Given the description of an element on the screen output the (x, y) to click on. 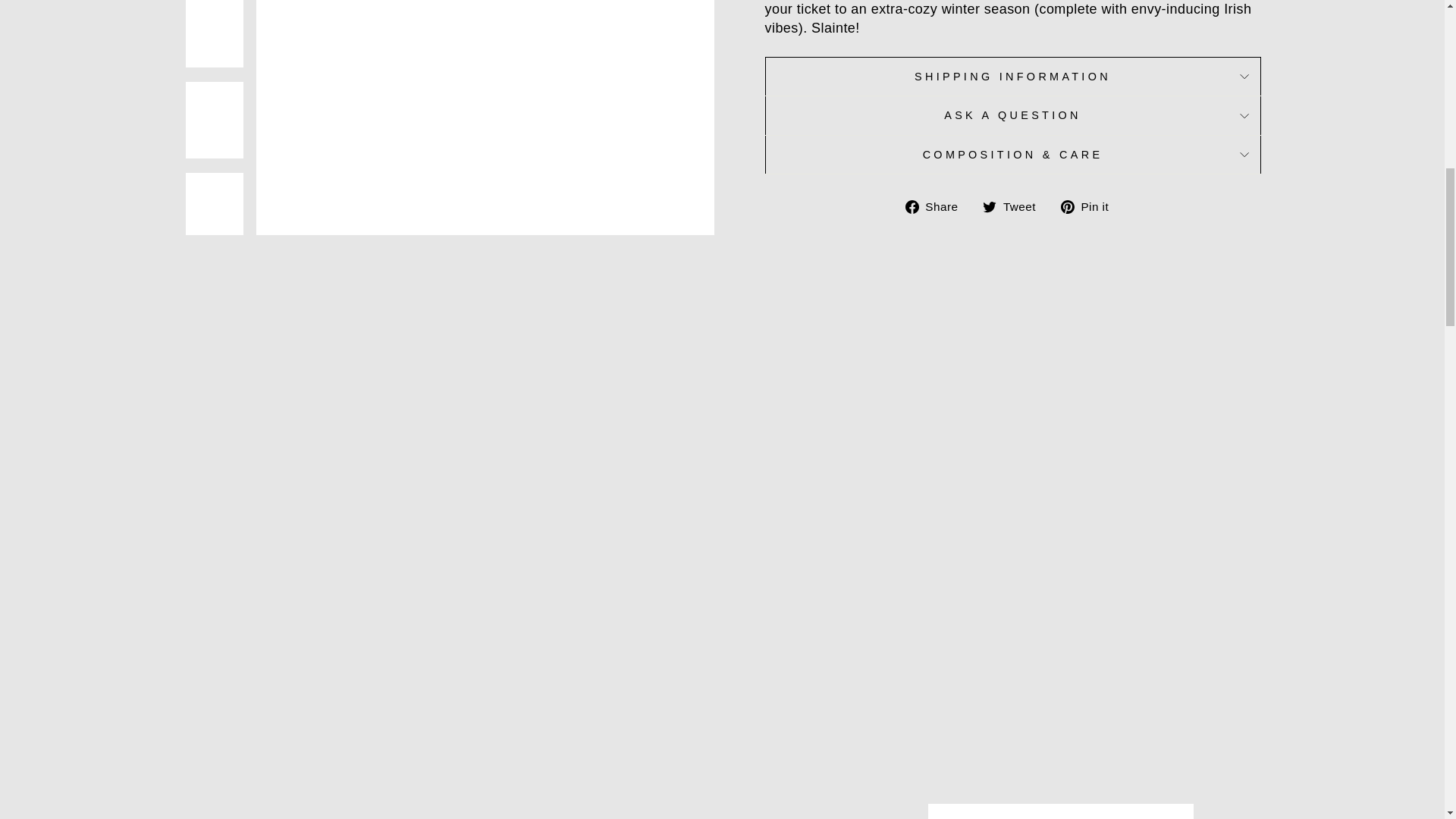
Share on Facebook (937, 206)
Tweet on Twitter (1014, 206)
Pin on Pinterest (1090, 206)
